Given the description of an element on the screen output the (x, y) to click on. 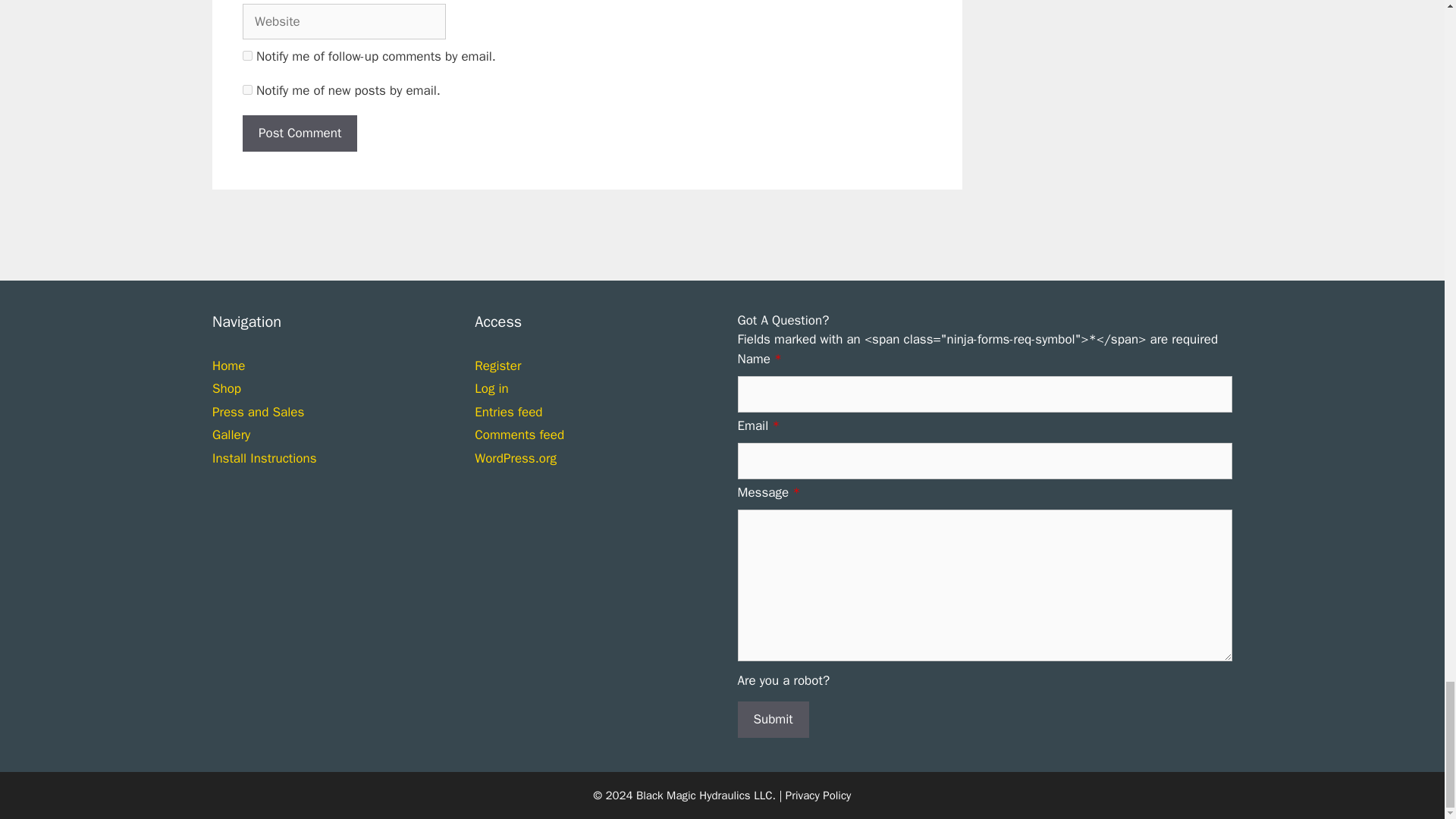
subscribe (247, 55)
Post Comment (299, 133)
Submit (772, 719)
subscribe (247, 90)
